Given the description of an element on the screen output the (x, y) to click on. 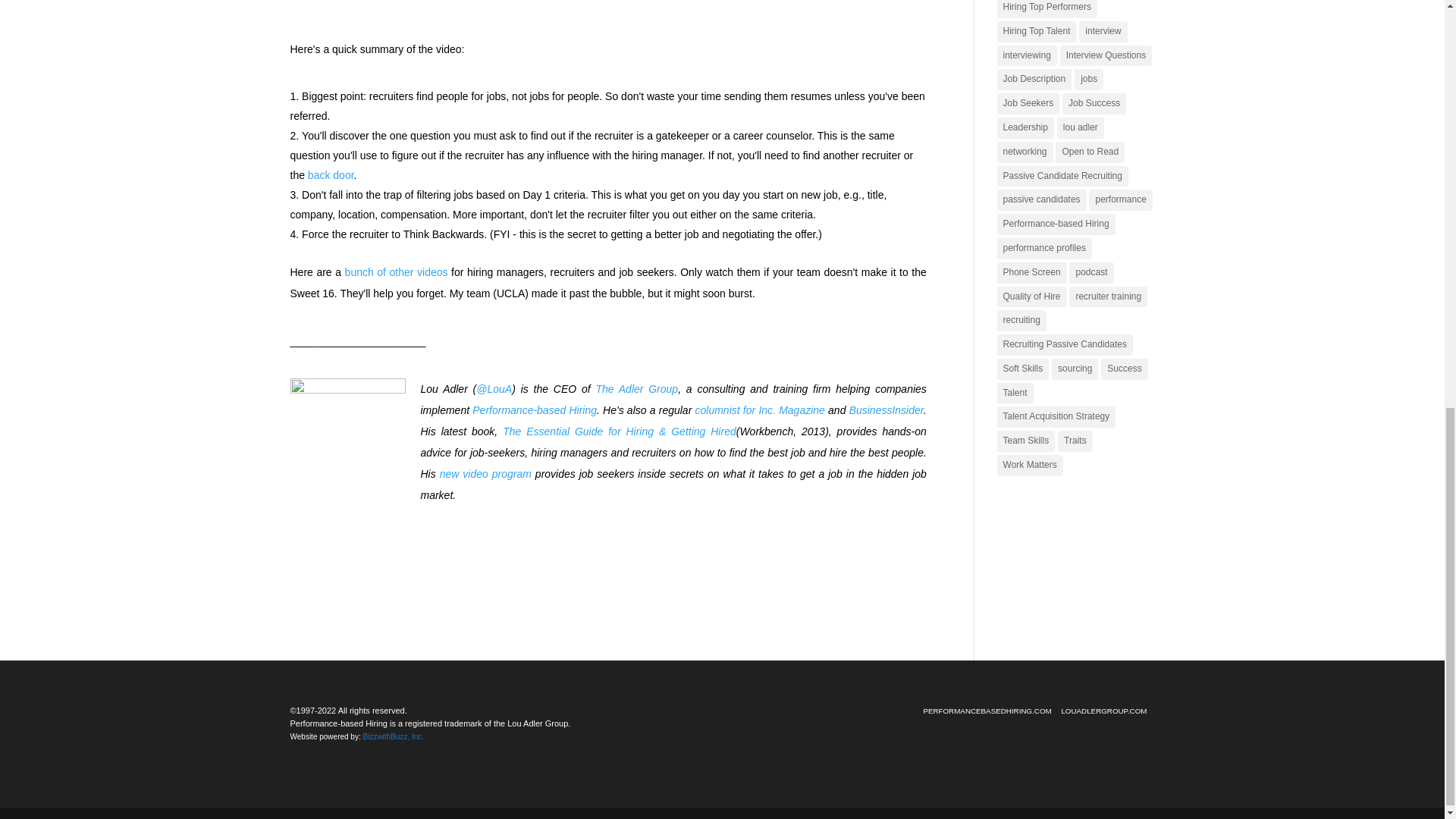
Performance-based Hiring (533, 410)
back door (330, 174)
BusinessInsider (885, 410)
new video program (485, 473)
columnist for Inc. Magazine (760, 410)
bunch of other videos (396, 272)
BizzwithBuzz, Inc. (392, 736)
The Adler Group (636, 388)
